Given the description of an element on the screen output the (x, y) to click on. 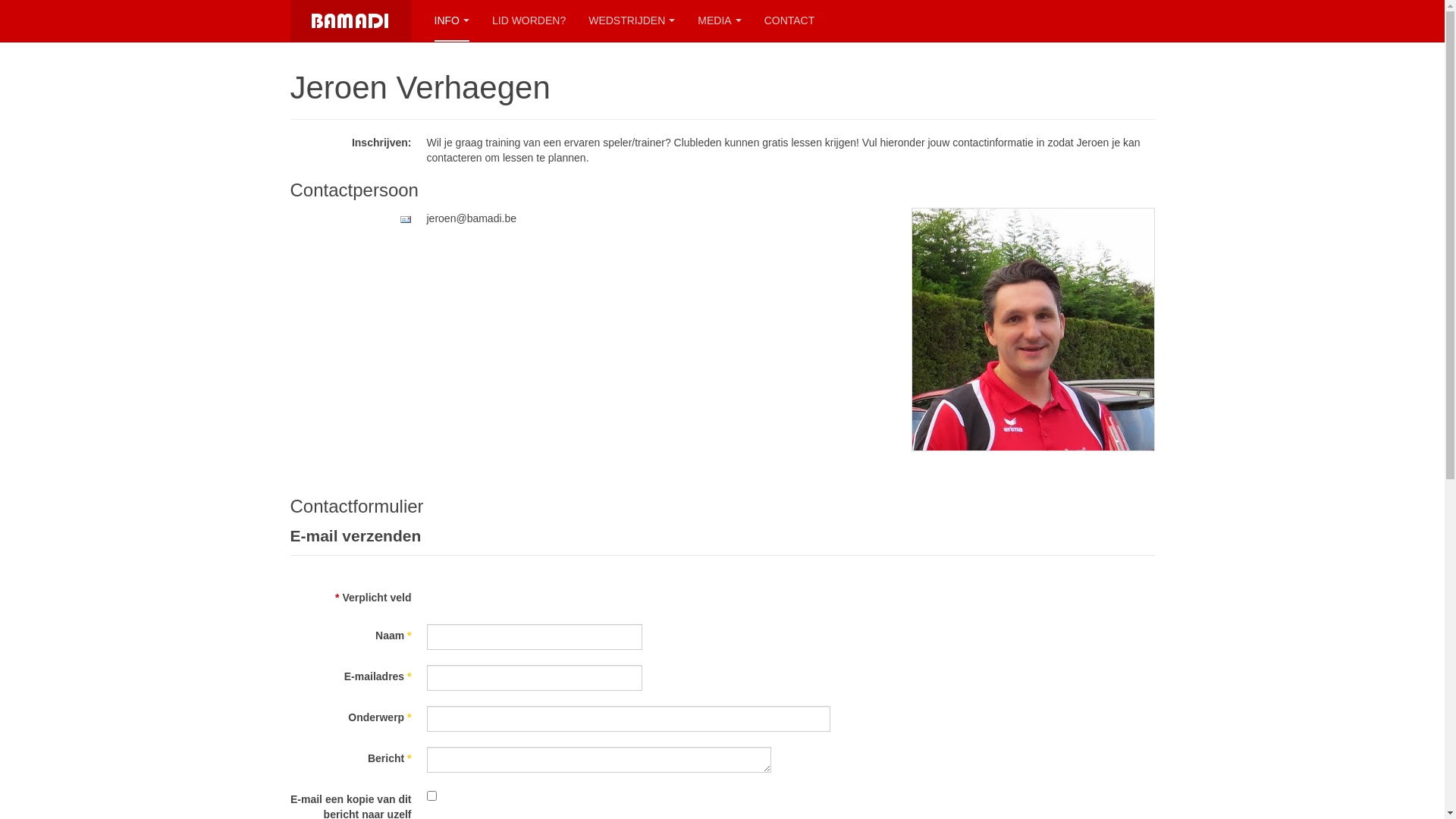
WEDSTRIJDEN Element type: text (631, 20)
LID WORDEN? Element type: text (528, 20)
INFO Element type: text (450, 20)
CONTACT Element type: text (789, 20)
Badmintonclub Machelen-Diegem vzw Element type: hover (350, 20)
MEDIA Element type: text (718, 20)
